Given the description of an element on the screen output the (x, y) to click on. 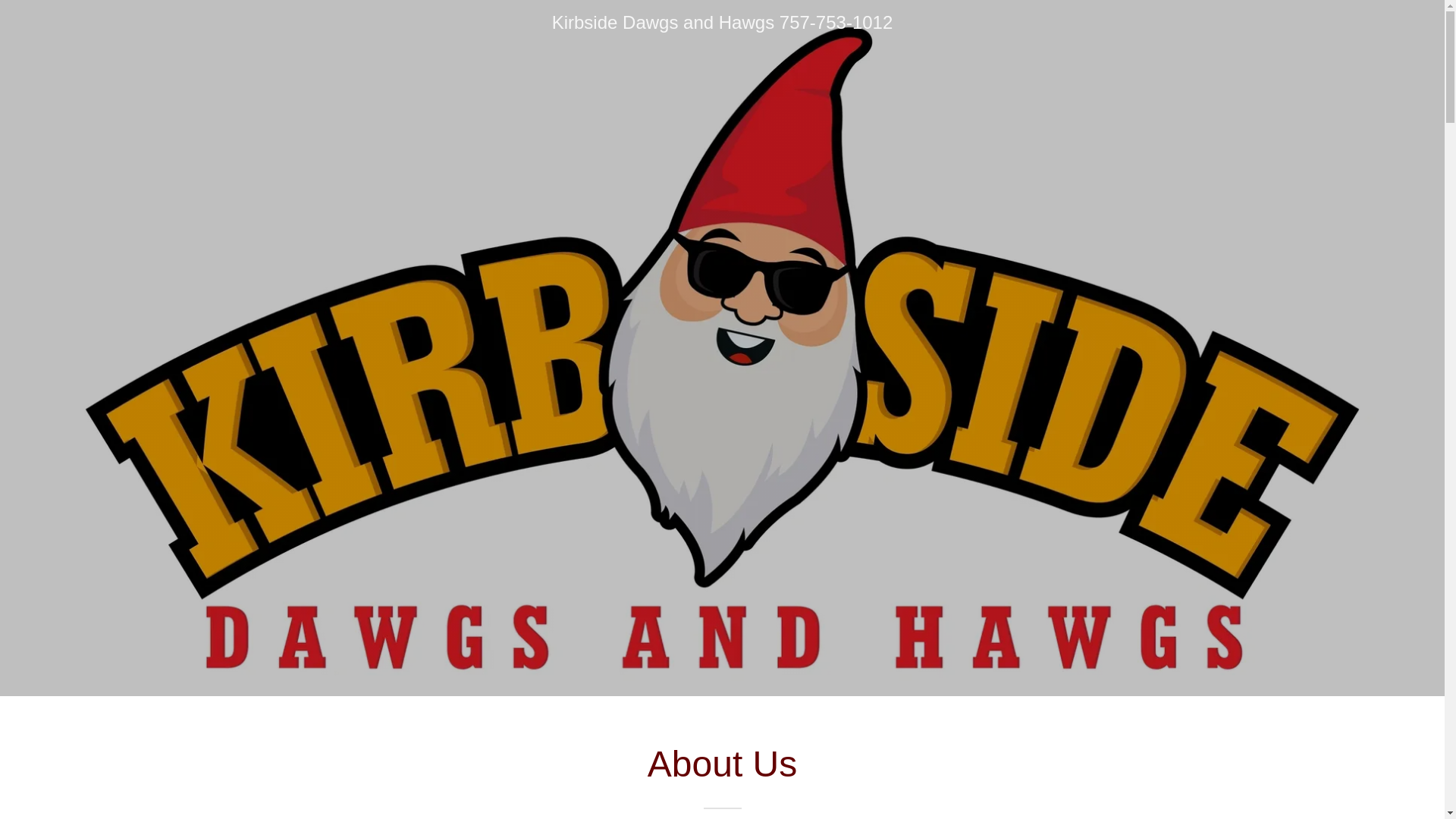
Kirbside Dawgs and Hawgs   757-753-1012 (721, 23)
Kirbside Dawgs and Hawgs 757-753-1012 (721, 23)
